Given the description of an element on the screen output the (x, y) to click on. 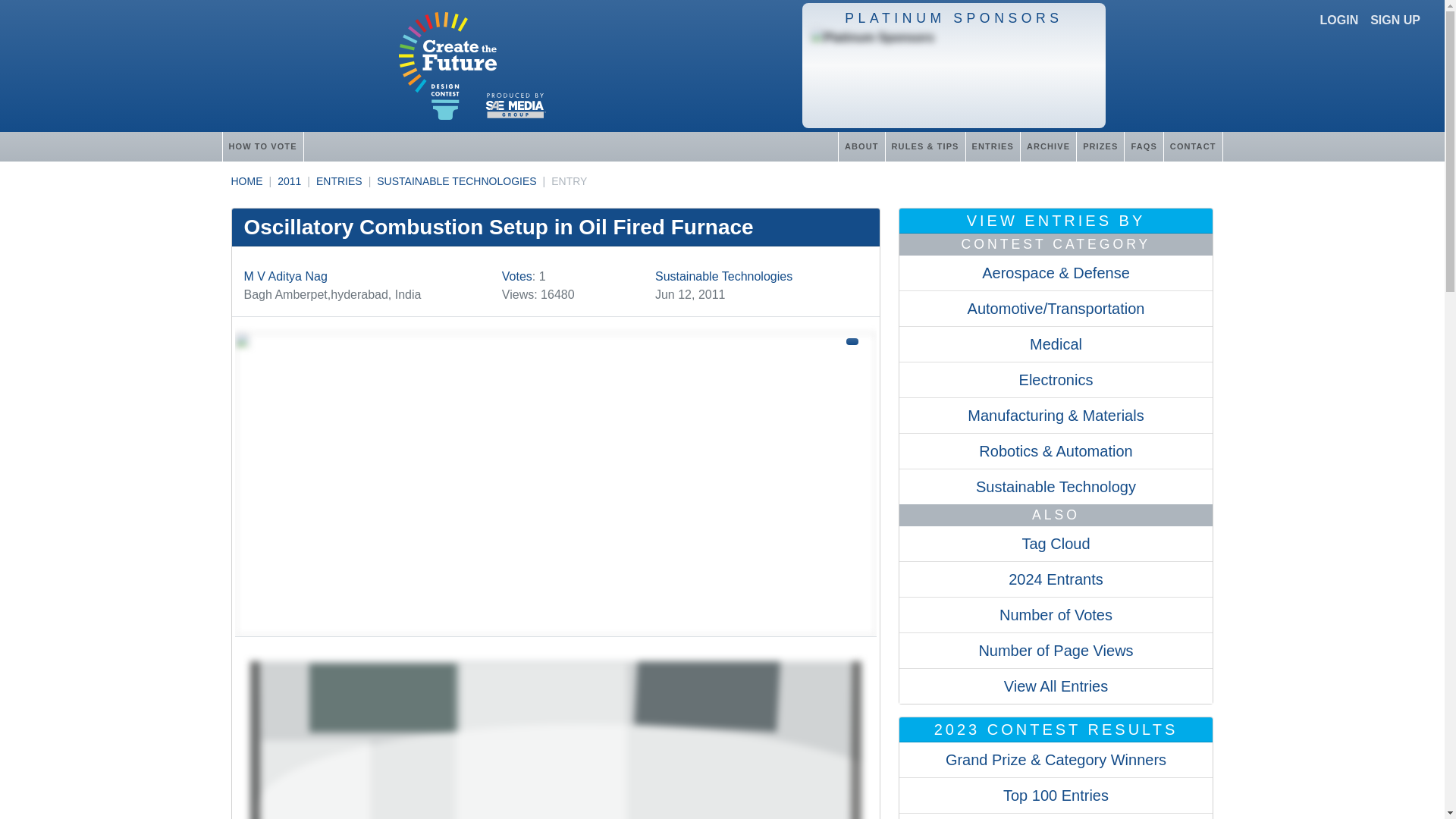
CONTACT (1193, 146)
HOW TO VOTE (261, 146)
ENTRIES (338, 181)
FAQS (1142, 146)
Goto slide (555, 730)
ABOUT (861, 146)
SUSTAINABLE TECHNOLOGIES (456, 181)
SIGN UP (1395, 20)
PRIZES (1099, 146)
HOME (246, 181)
